Given the description of an element on the screen output the (x, y) to click on. 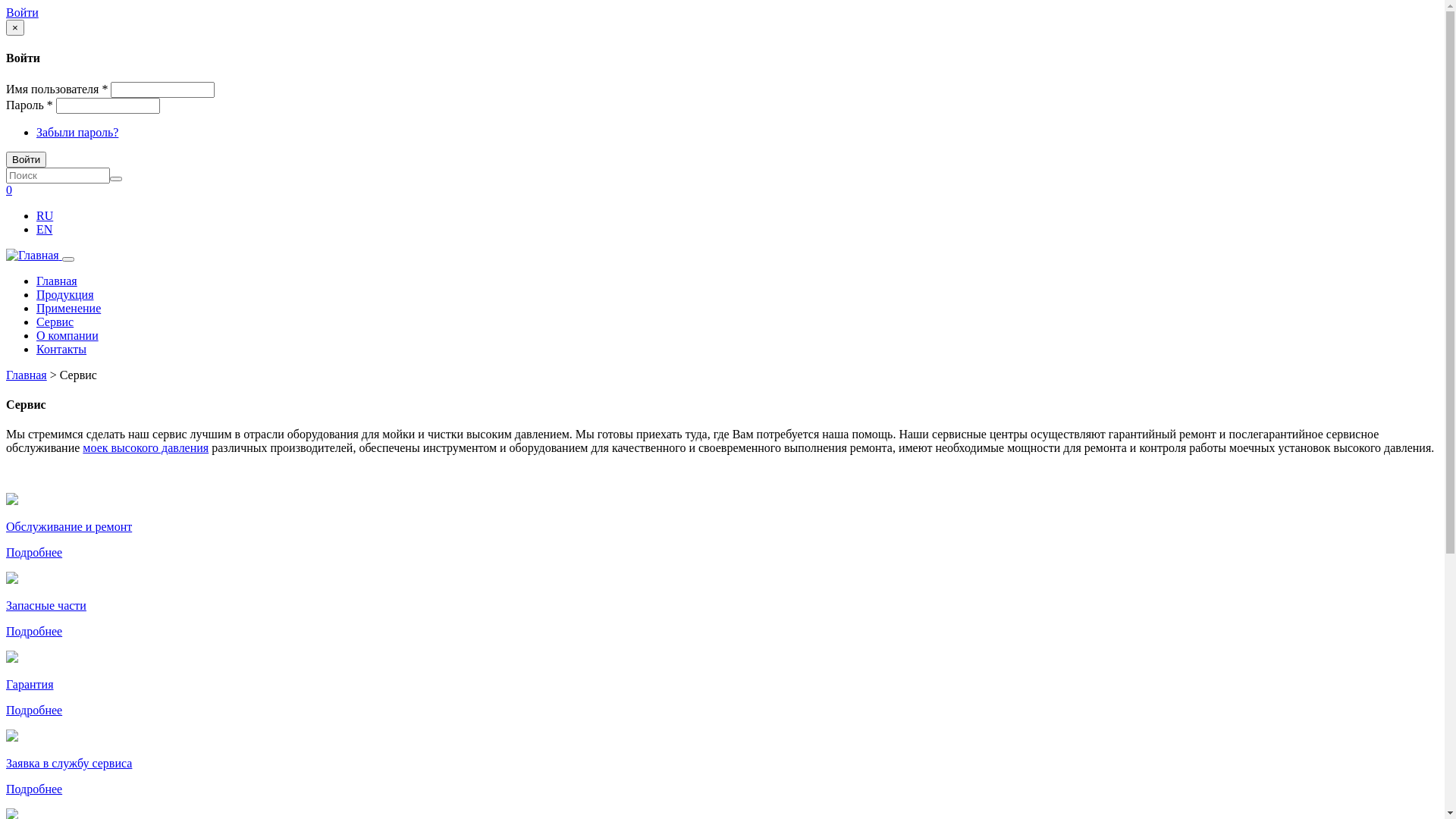
RU Element type: text (44, 215)
EN Element type: text (44, 228)
0 Element type: text (9, 189)
